Given the description of an element on the screen output the (x, y) to click on. 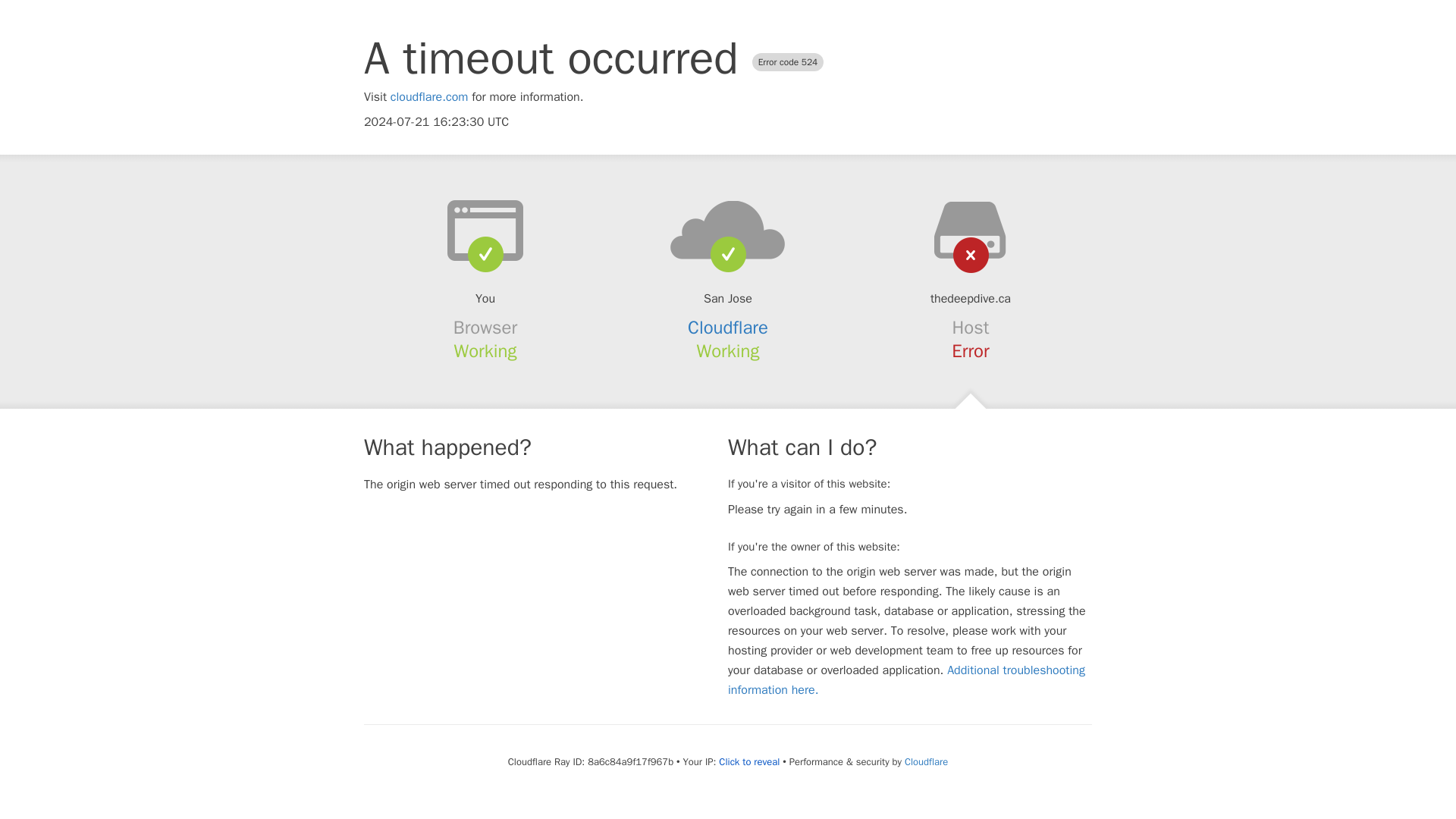
Cloudflare (925, 761)
cloudflare.com (429, 96)
Click to reveal (748, 762)
Additional troubleshooting information here. (906, 679)
Cloudflare (727, 327)
